Given the description of an element on the screen output the (x, y) to click on. 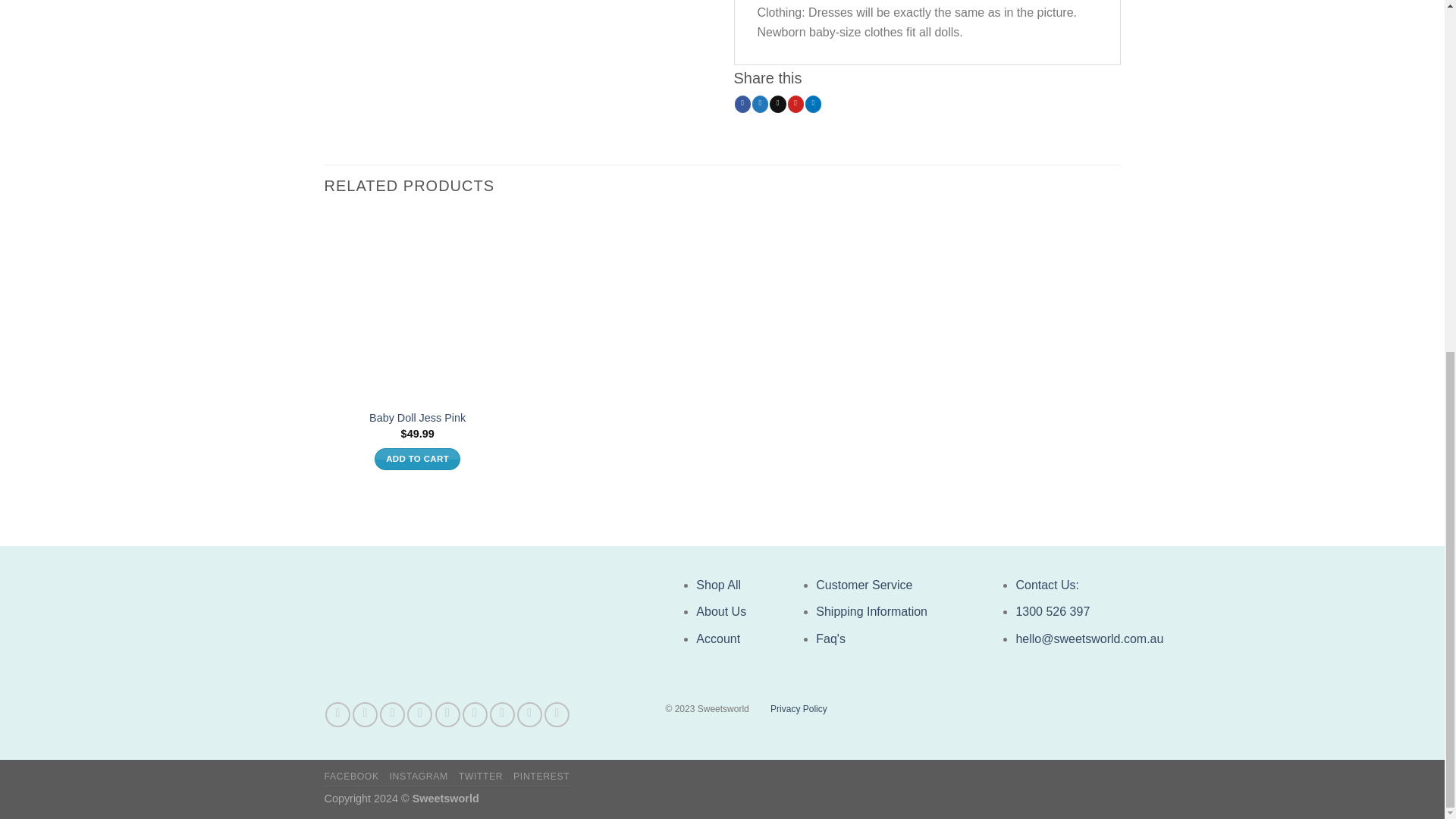
Share on Facebook (743, 103)
Pin on Pinterest (795, 103)
Share on LinkedIn (813, 103)
Email to a Friend (778, 103)
Share on Twitter (760, 103)
